Given the description of an element on the screen output the (x, y) to click on. 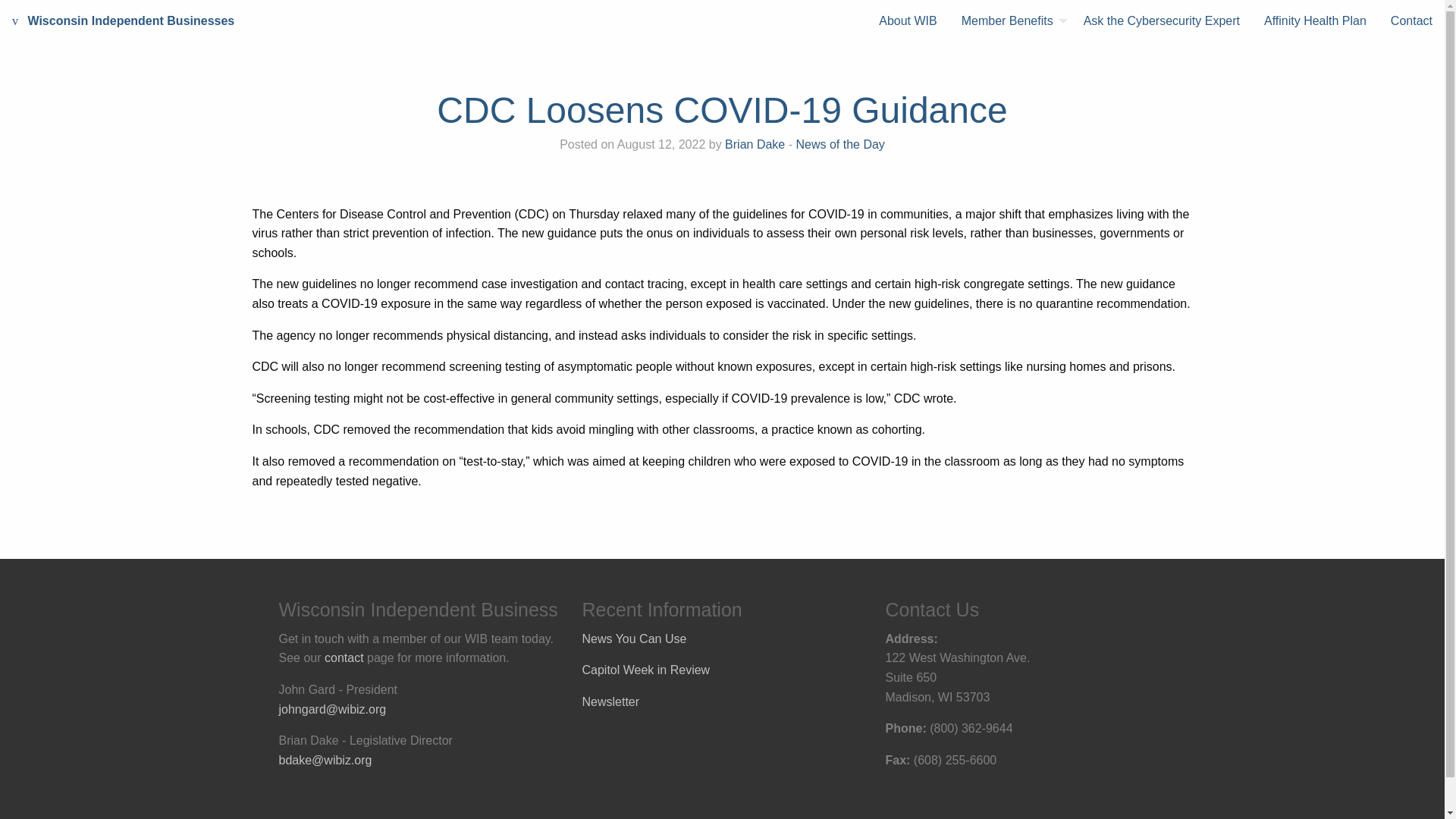
Capitol Week in Review (646, 669)
News You Can Use (634, 638)
Posts by Brian Dake (754, 144)
Affinity Health Plan (1315, 21)
Brian Dake (754, 144)
Ask the Cybersecurity Expert (1161, 21)
News of the Day (838, 144)
Member Benefits (1010, 21)
wisconsin Wisconsin Independent Businesses (123, 21)
About WIB (907, 21)
